Given the description of an element on the screen output the (x, y) to click on. 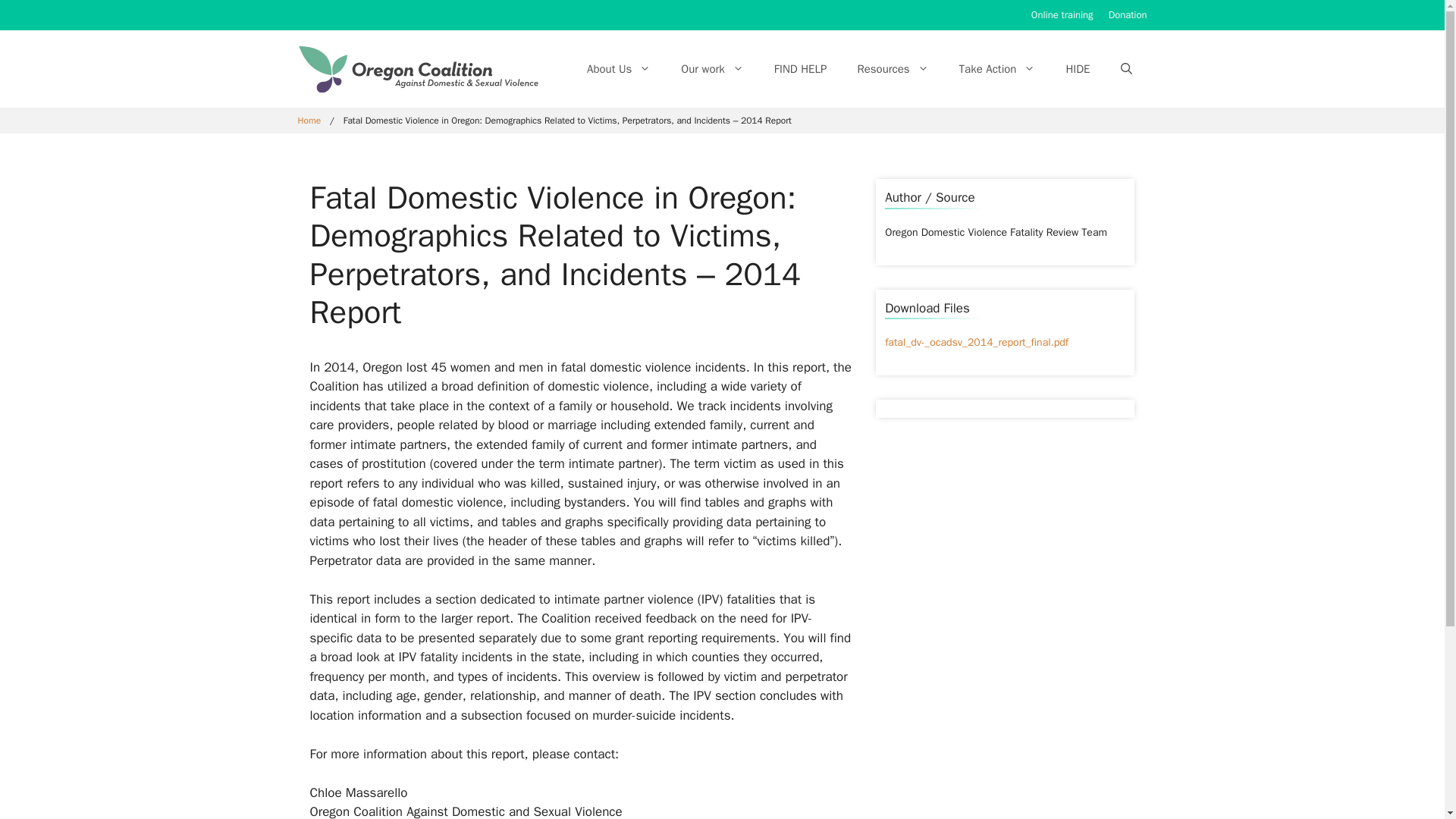
About Us (618, 68)
Online training (1061, 14)
Our work (711, 68)
Donation (1127, 14)
